Given the description of an element on the screen output the (x, y) to click on. 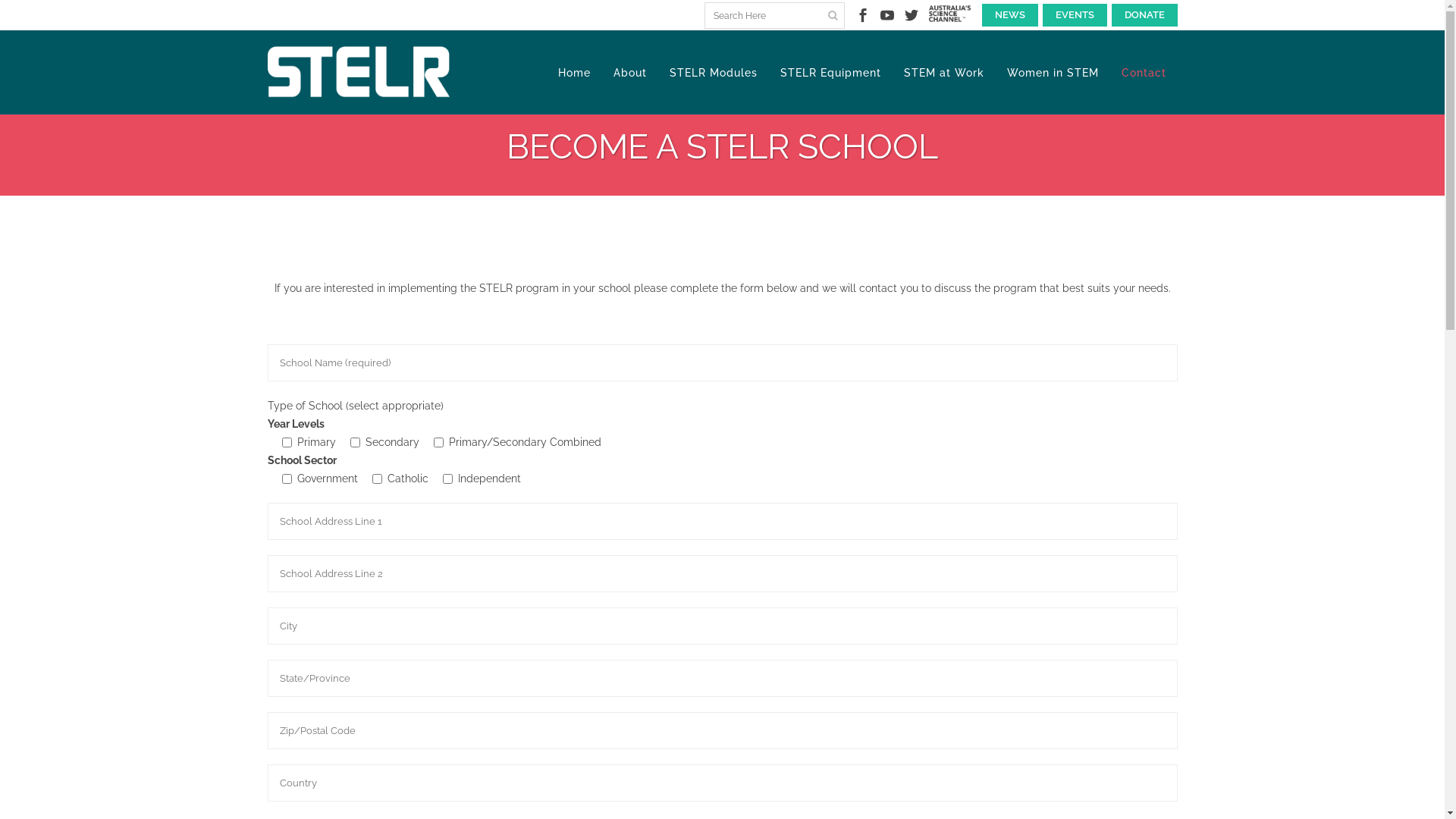
About Element type: text (630, 72)
STEM at Work Element type: text (942, 72)
Contact Element type: text (1143, 72)
EVENTS Element type: text (1073, 14)
Home Element type: text (573, 72)
STELR Modules Element type: text (713, 72)
DONATE Element type: text (1144, 14)
NEWS Element type: text (1009, 14)
Women in STEM Element type: text (1051, 72)
STELR Equipment Element type: text (830, 72)
